Given the description of an element on the screen output the (x, y) to click on. 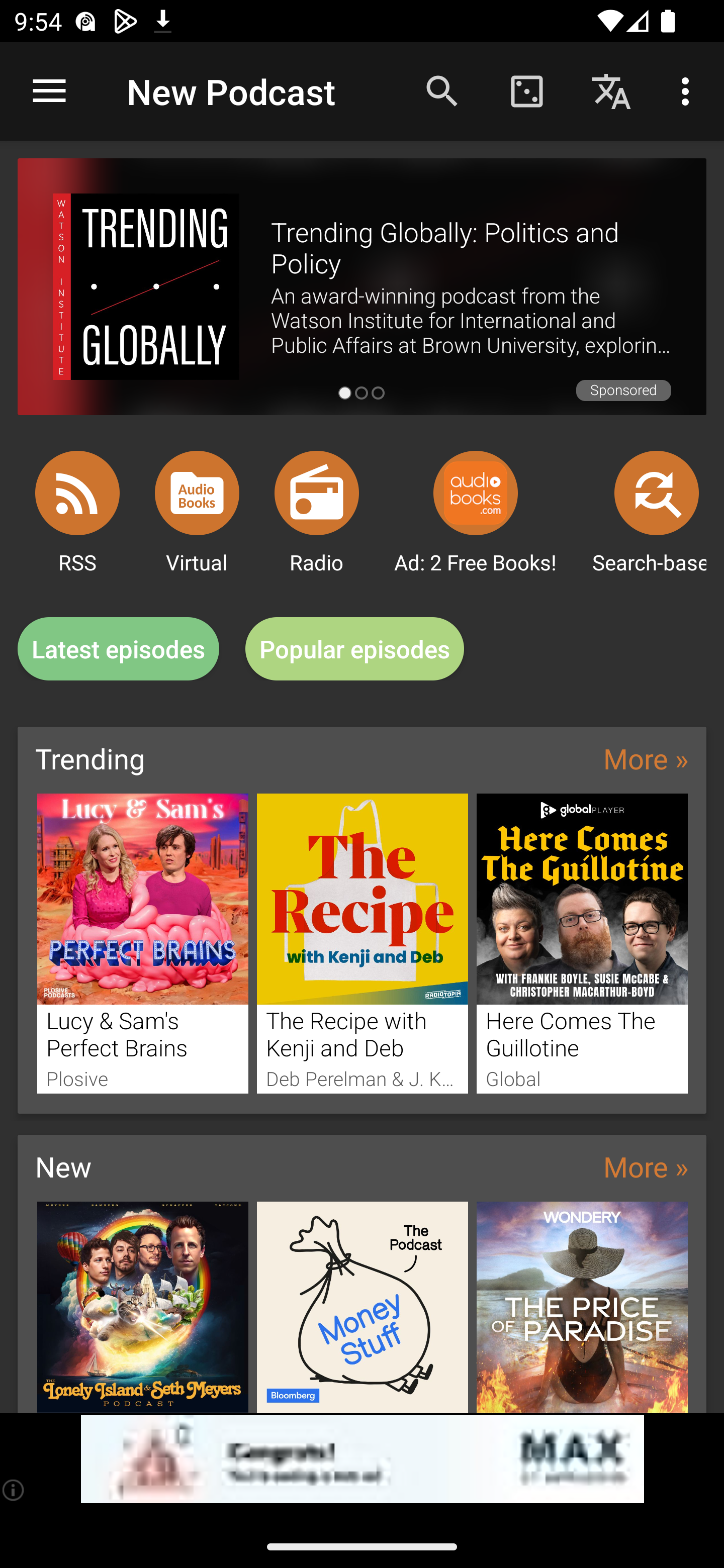
Open navigation sidebar (49, 91)
Search (442, 90)
Random pick (526, 90)
Podcast languages (611, 90)
More options (688, 90)
RSS (77, 492)
Virtual (196, 492)
Radio (316, 492)
Search-based (656, 492)
Latest episodes (118, 648)
Popular episodes (354, 648)
More » (645, 757)
Lucy & Sam's Perfect Brains Plosive (142, 942)
Here Comes The Guillotine Global (581, 942)
More » (645, 1166)
The Lonely Island and Seth Meyers Podcast (142, 1306)
Money Stuff: The Podcast (362, 1306)
The Price of Paradise (581, 1306)
app-monetization (362, 1459)
(i) (14, 1489)
